Given the description of an element on the screen output the (x, y) to click on. 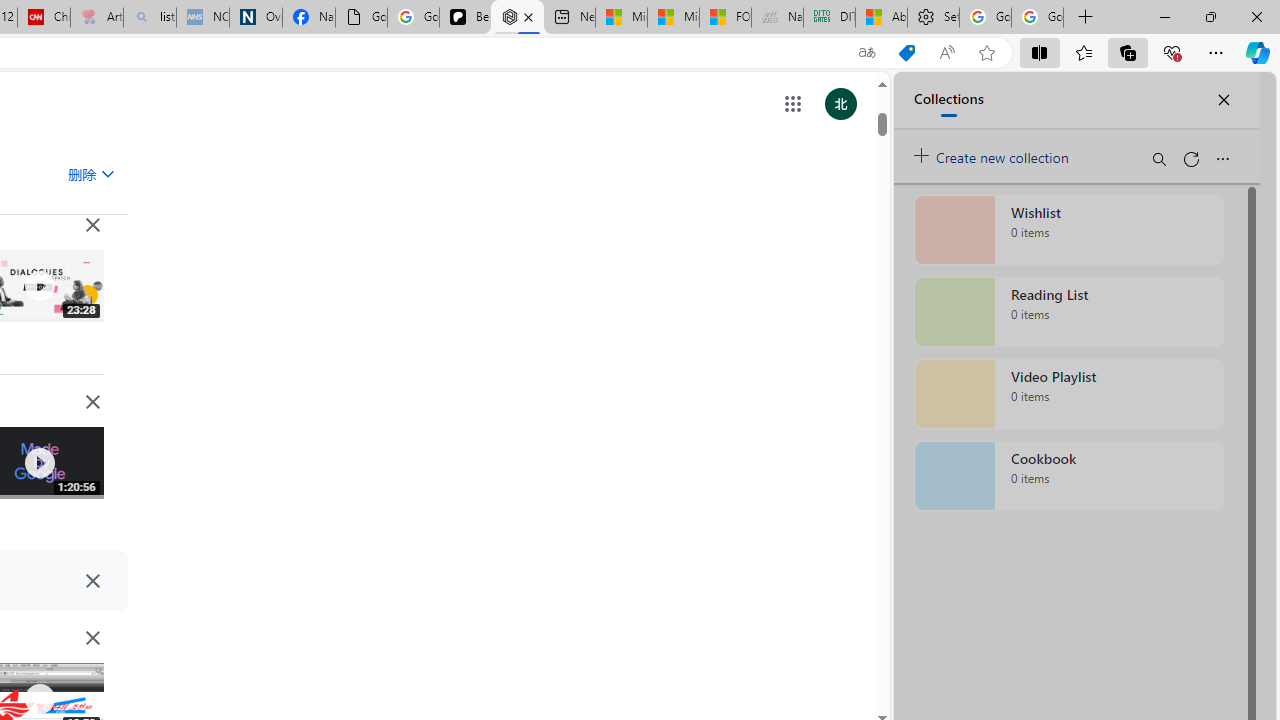
FOX News - MSN (725, 17)
Class: gb_E (792, 103)
Class: DI7Mnf NMm5M (91, 580)
Arthritis: Ask Health Professionals - Sleeping (96, 17)
Be Smart | creating Science videos | Patreon (465, 17)
